Given the description of an element on the screen output the (x, y) to click on. 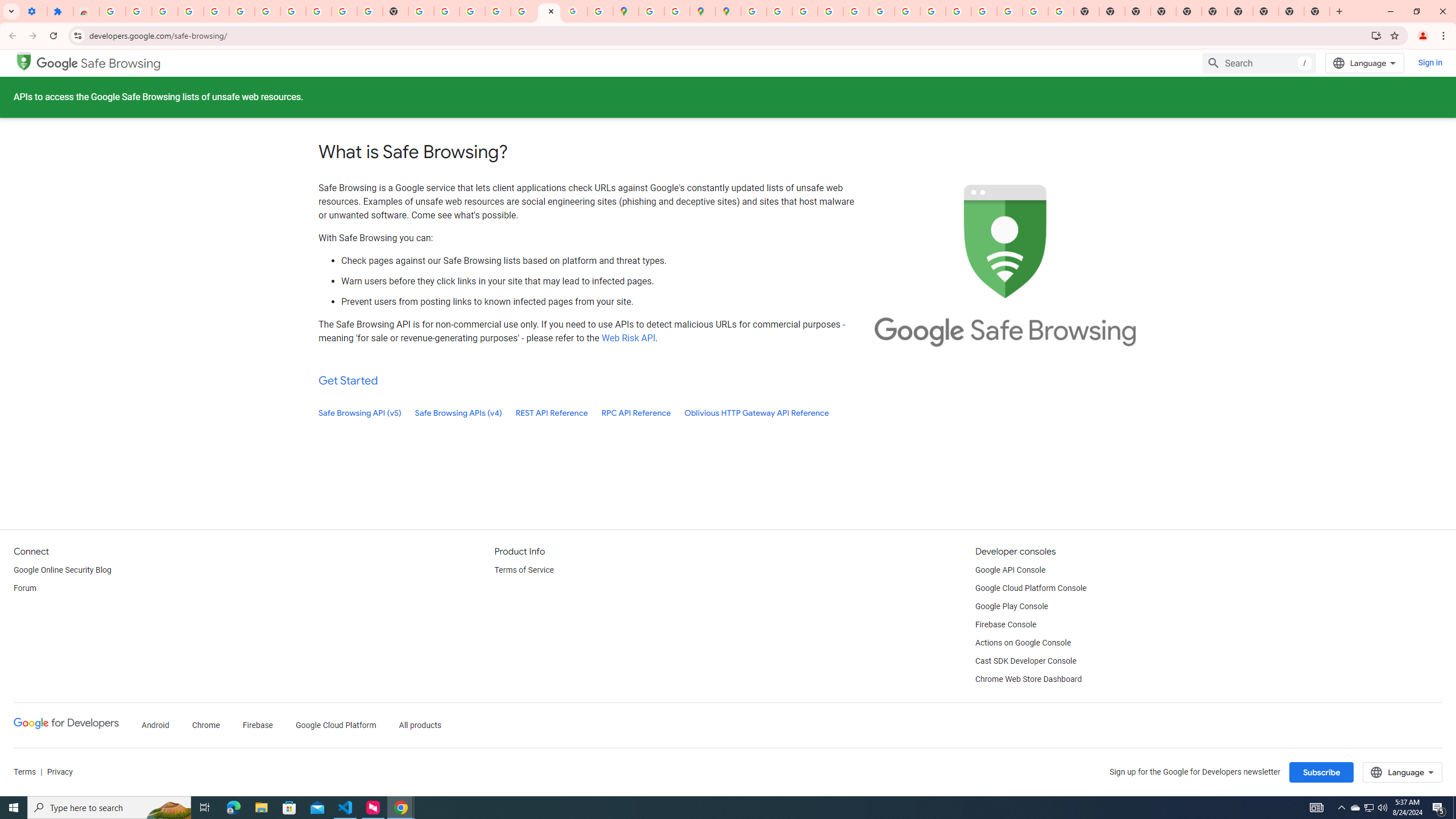
New Tab (1162, 11)
Terms of Service (523, 570)
Firebase Console (1005, 624)
Subscribe (1322, 772)
REST API Reference (551, 412)
Settings - On startup (34, 11)
Safe Browsing APIs (v4) (458, 412)
https://scholar.google.com/ (421, 11)
Sign in - Google Accounts (112, 11)
